Given the description of an element on the screen output the (x, y) to click on. 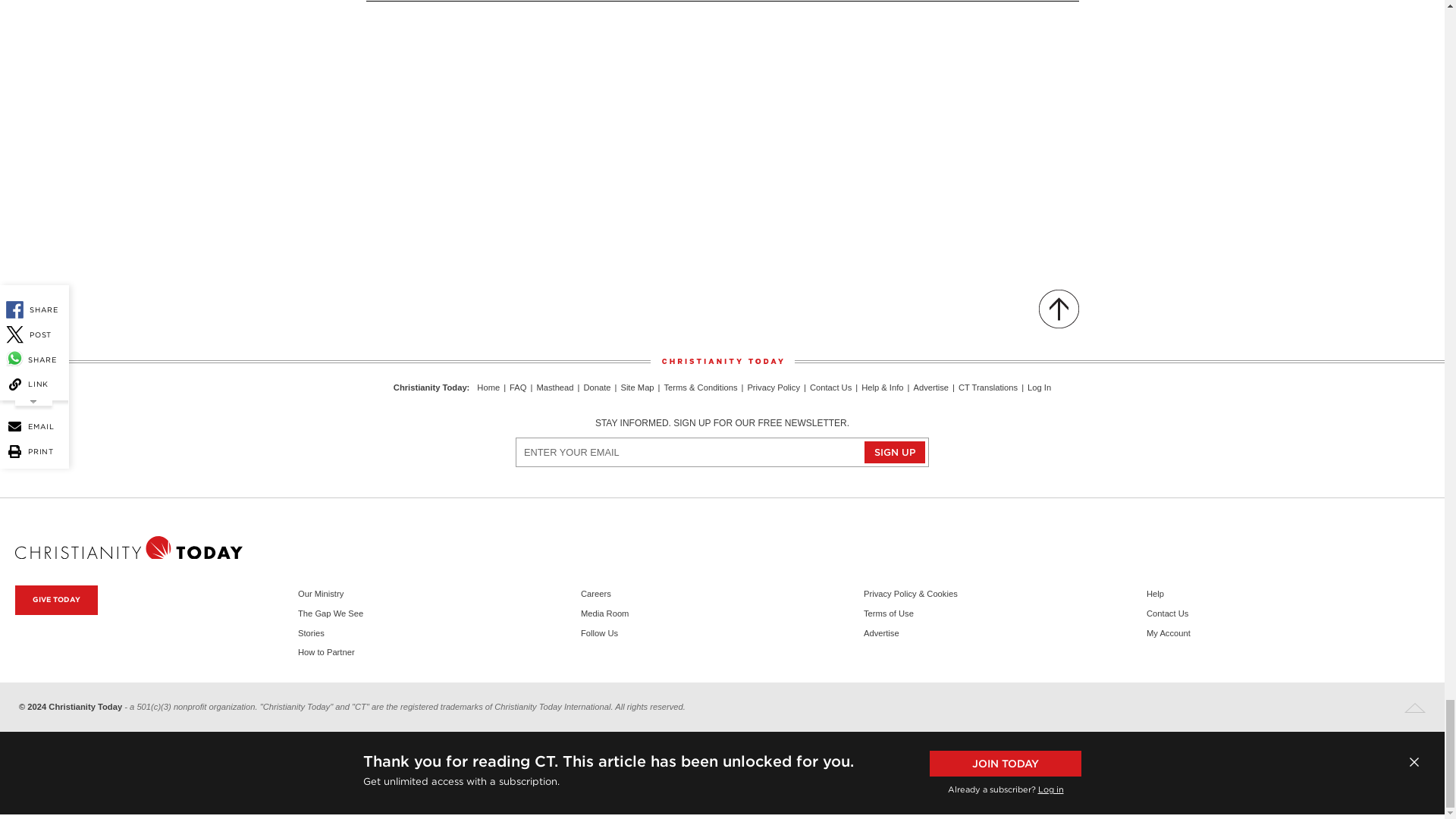
Sign Up (894, 452)
